Given the description of an element on the screen output the (x, y) to click on. 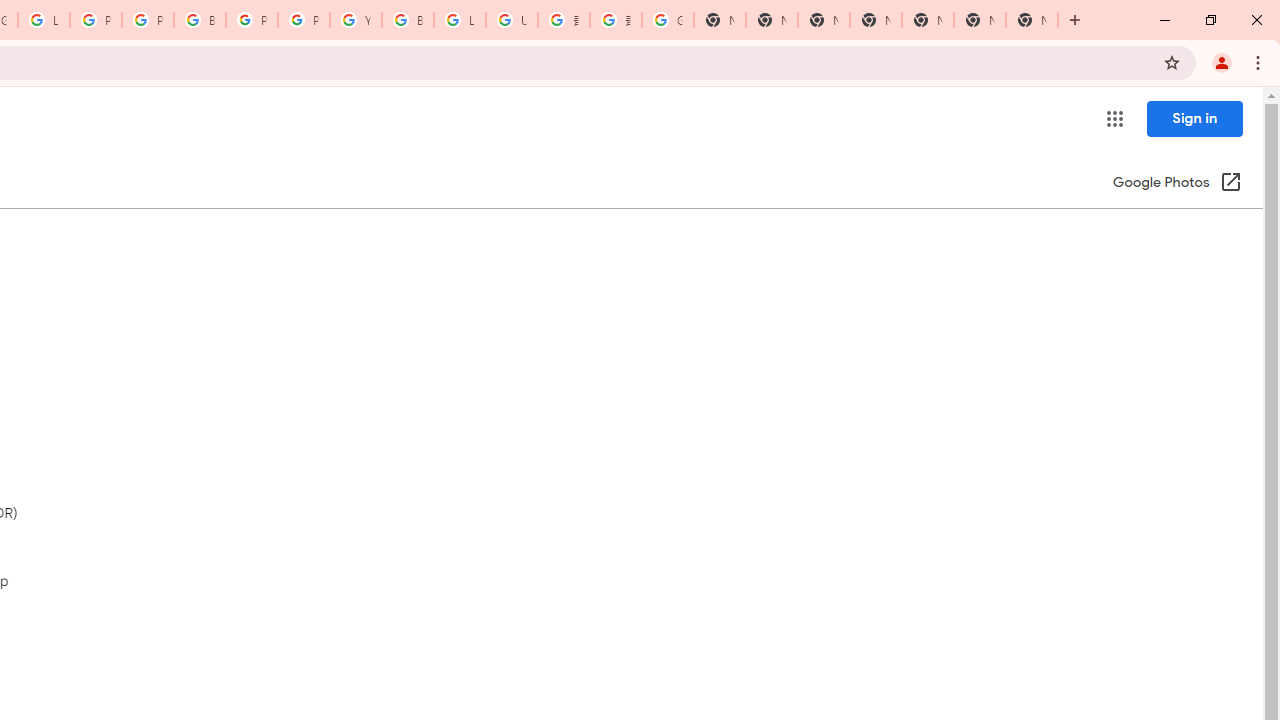
YouTube (355, 20)
New Tab (1032, 20)
